Given the description of an element on the screen output the (x, y) to click on. 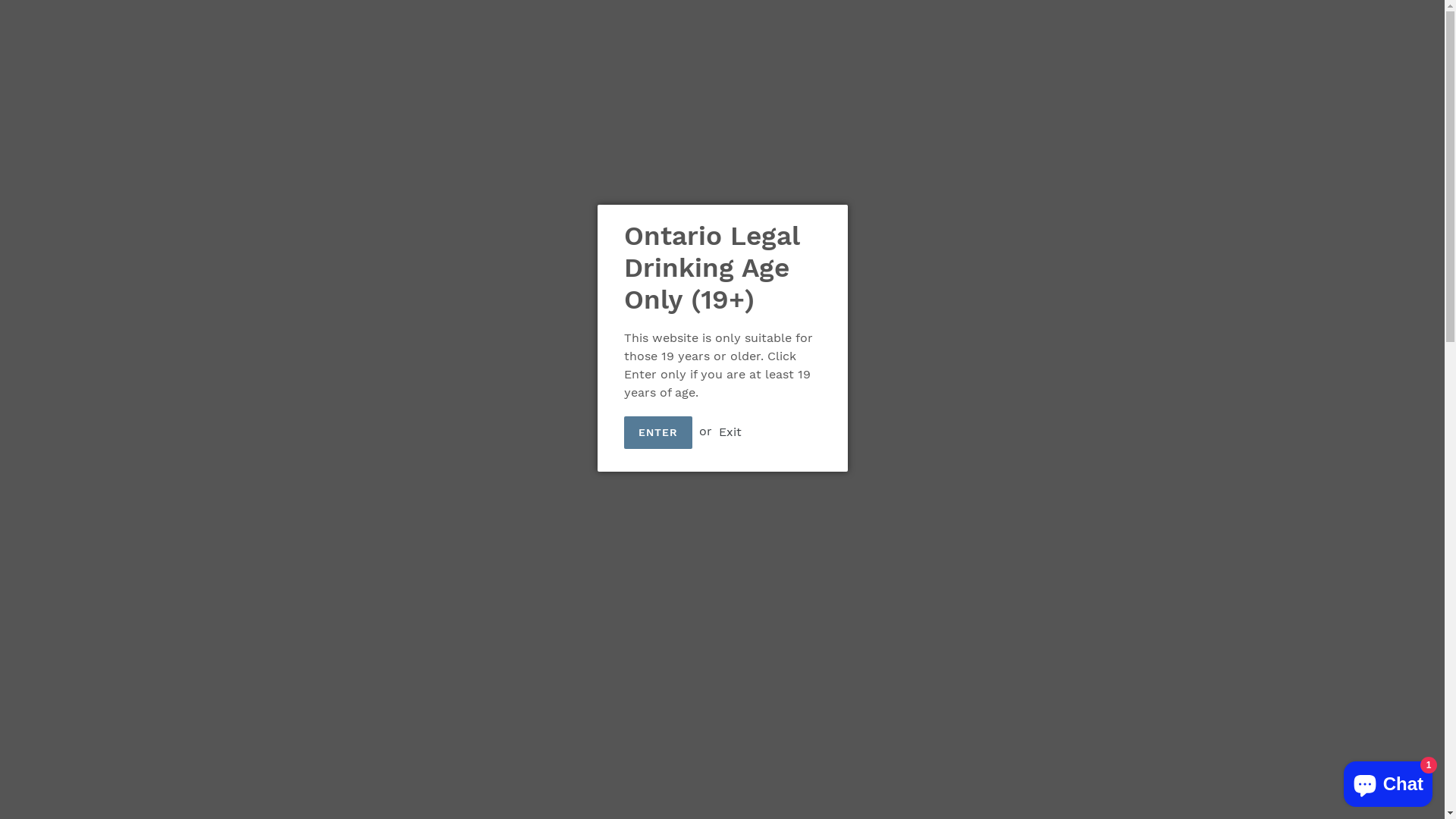
Cart Element type: text (1384, 48)
Home Element type: text (466, 47)
FAQ Element type: text (697, 47)
Submit Element type: text (1312, 47)
Shop Element type: text (517, 47)
About Element type: text (570, 47)
Shopify online store chat Element type: hover (1388, 780)
Events Element type: text (976, 47)
Exit Element type: text (729, 430)
Log in Element type: text (1349, 48)
ENTER Element type: text (657, 432)
SHIPPING FAQ Element type: text (771, 47)
Blog Element type: text (845, 47)
